Given the description of an element on the screen output the (x, y) to click on. 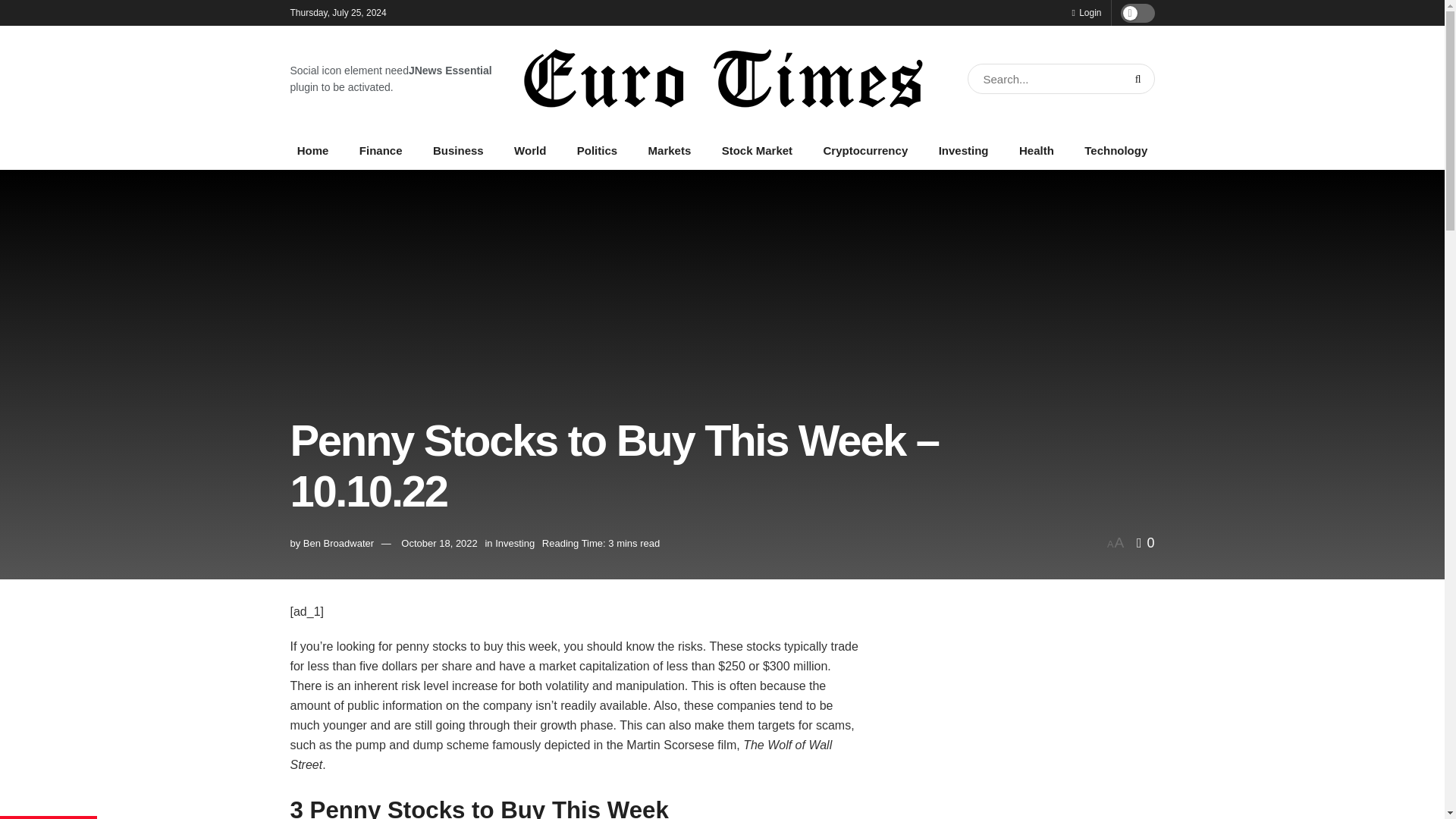
October 18, 2022 (439, 542)
Health (1036, 150)
Politics (597, 150)
Home (311, 150)
Markets (668, 150)
Ben Broadwater (338, 542)
Technology (1115, 150)
Login (1085, 12)
Stock Market (756, 150)
0 (1145, 542)
Investing (962, 150)
Finance (380, 150)
Investing (514, 542)
World (529, 150)
Cryptocurrency (864, 150)
